Given the description of an element on the screen output the (x, y) to click on. 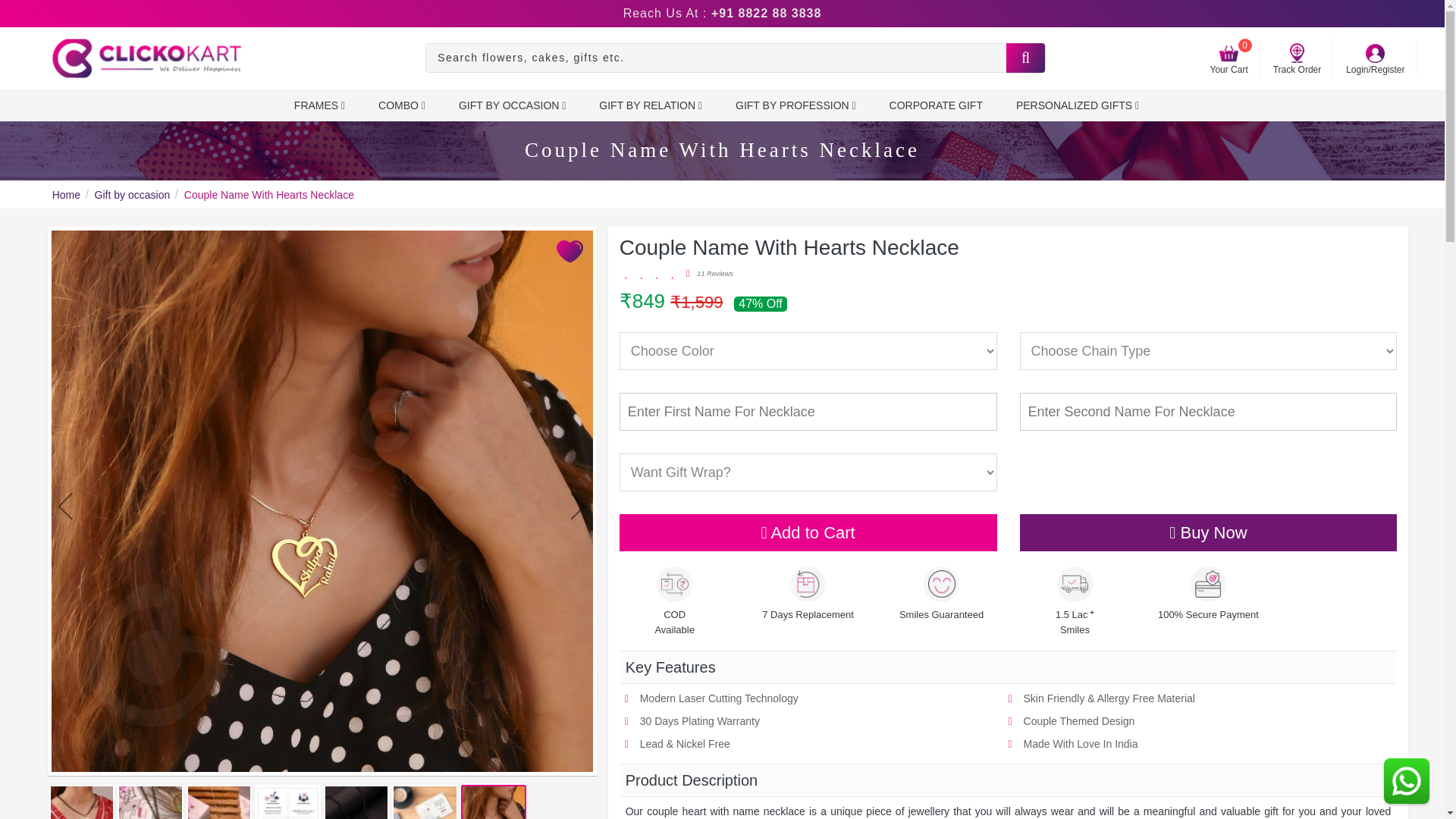
Clickokart (146, 57)
